Given the description of an element on the screen output the (x, y) to click on. 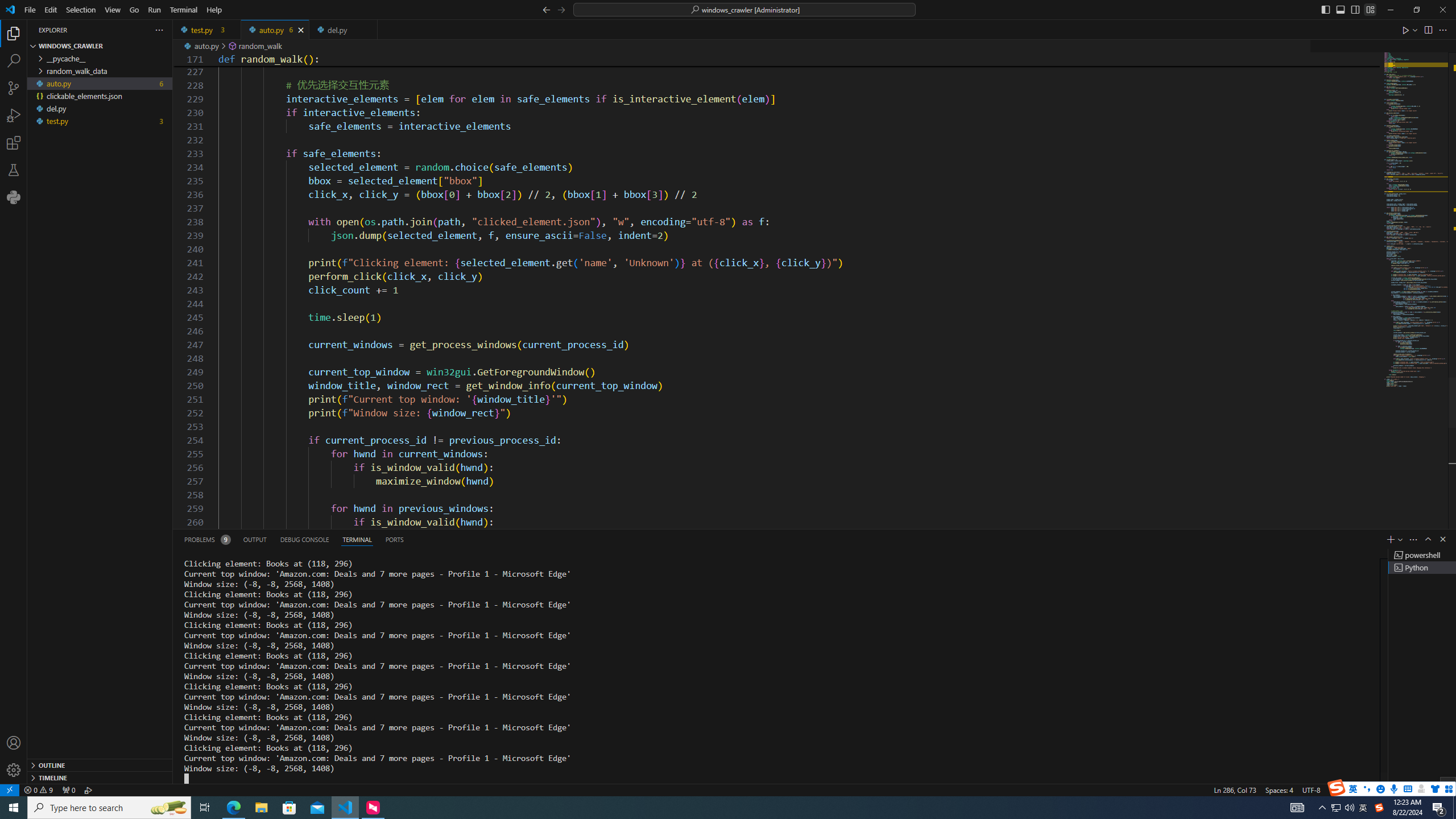
Toggle Panel (Ctrl+J) (1339, 9)
Manage (13, 755)
del.py (342, 29)
View (112, 9)
Edit (50, 9)
Minimize (1390, 9)
Explorer actions (118, 29)
Run and Debug (Ctrl+Shift+D) (13, 115)
Explorer (Ctrl+Shift+E) (13, 33)
Notifications (1443, 789)
Warnings: 9 (37, 789)
No Ports Forwarded (68, 789)
Terminal 1 powershell (1422, 554)
